Given the description of an element on the screen output the (x, y) to click on. 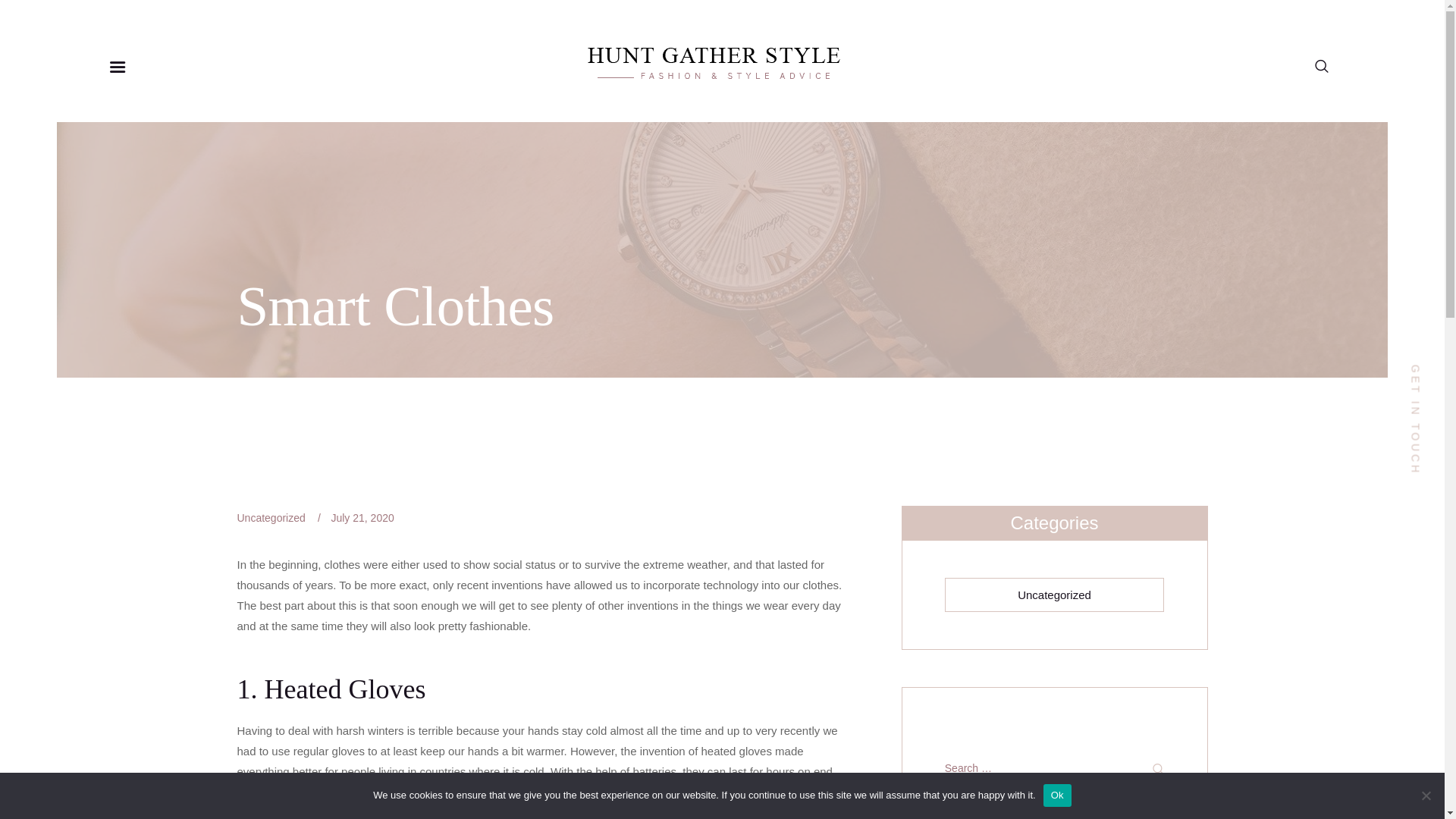
Search (1152, 769)
No (1425, 795)
Ok (1057, 794)
Uncategorized (1053, 594)
Uncategorized (269, 517)
Search (1152, 769)
Search (1152, 769)
July 21, 2020 (361, 517)
